Given the description of an element on the screen output the (x, y) to click on. 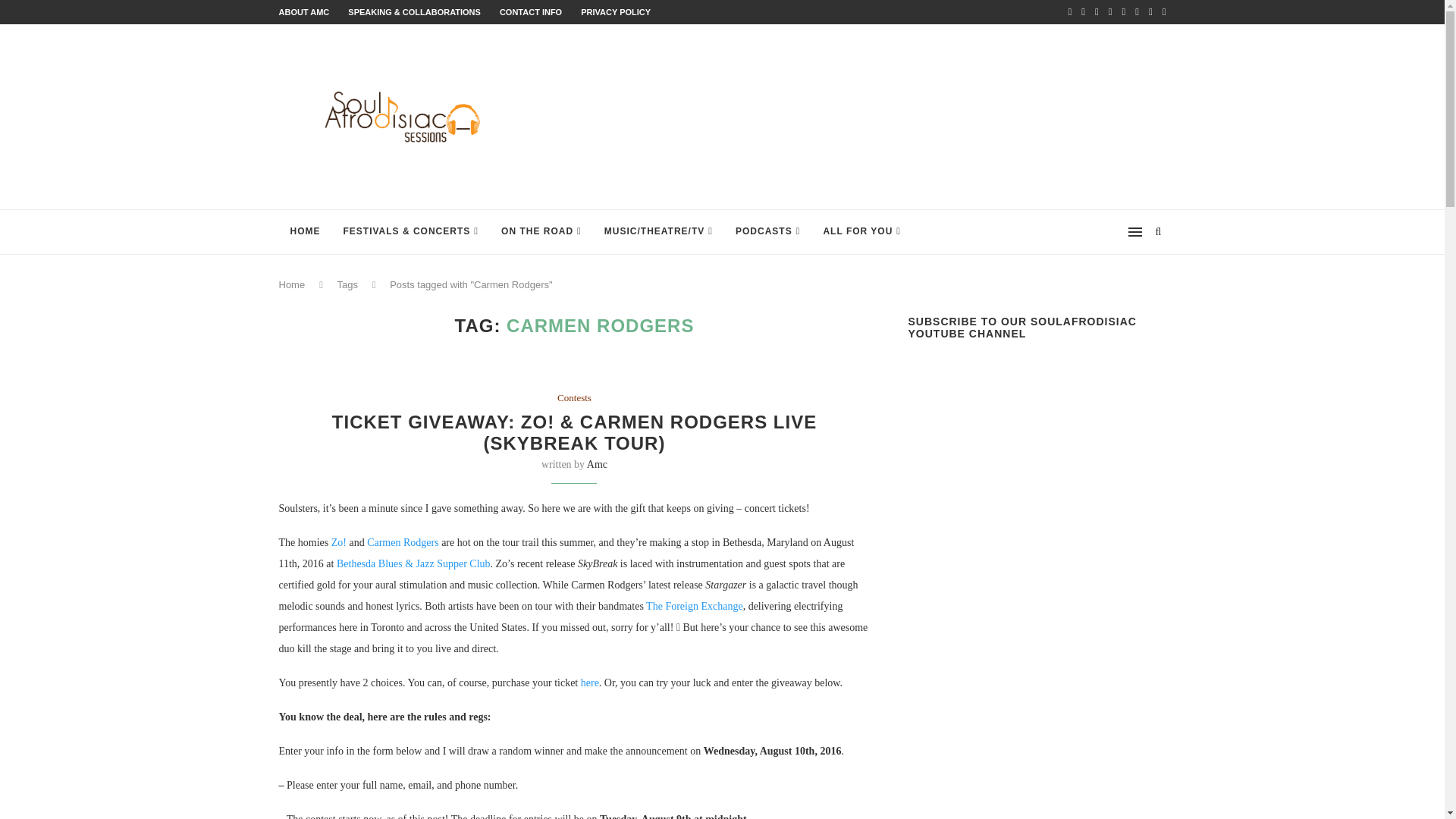
CONTACT INFO (530, 11)
ABOUT AMC (304, 11)
PRIVACY POLICY (615, 11)
